Given the description of an element on the screen output the (x, y) to click on. 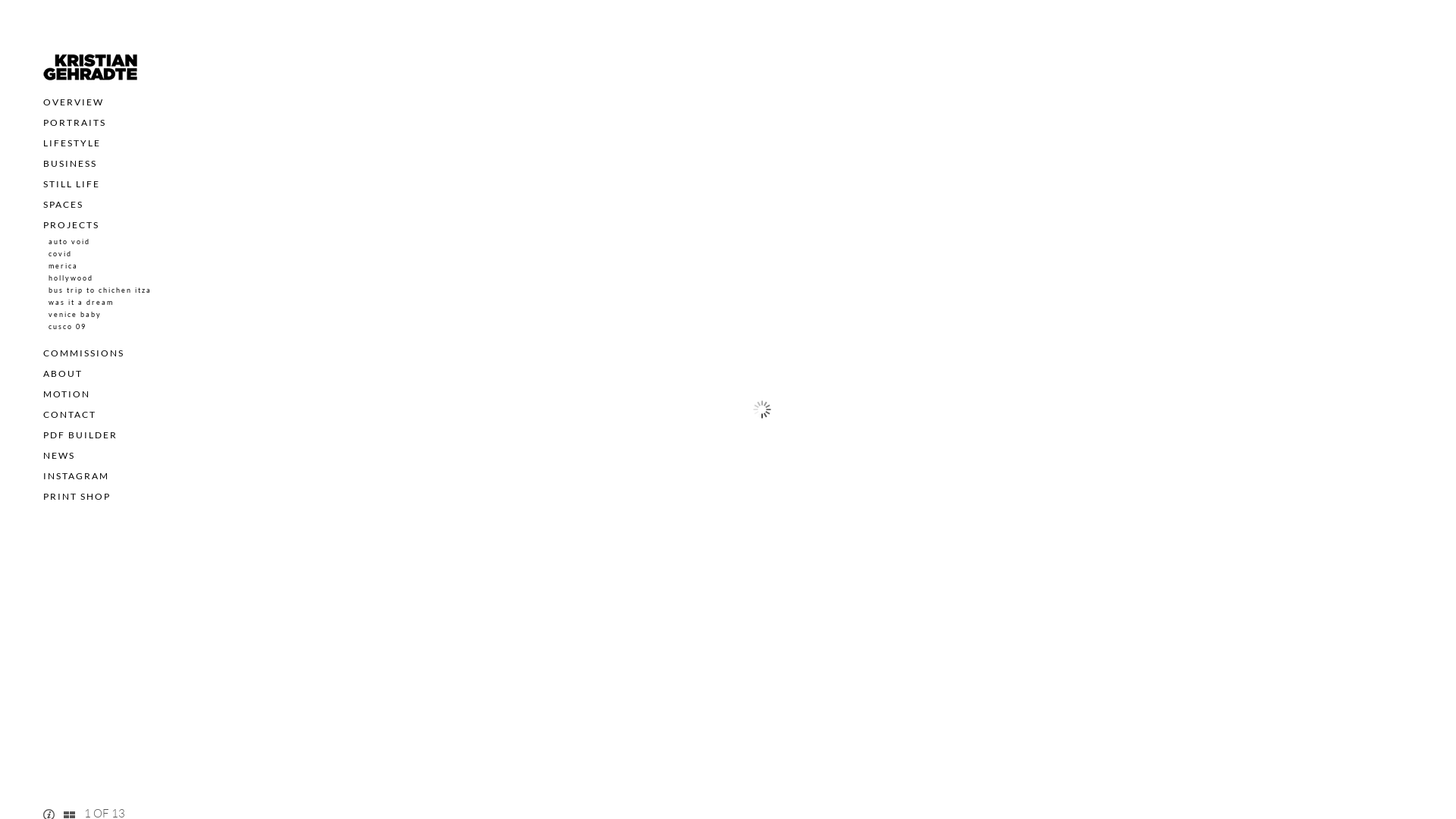
PROJECTS Element type: text (71, 224)
NEWS Element type: text (59, 455)
covid Element type: text (60, 253)
OVERVIEW Element type: text (73, 101)
cusco 09 Element type: text (67, 326)
PDF BUILDER Element type: text (80, 434)
MOTION Element type: text (66, 393)
LIFESTYLE Element type: text (71, 142)
ABOUT Element type: text (62, 373)
PRINT SHOP Element type: text (76, 496)
auto void Element type: text (69, 241)
COMMISSIONS Element type: text (83, 352)
SPACES Element type: text (63, 204)
merica Element type: text (63, 265)
bus trip to chichen itza Element type: text (99, 289)
venice baby Element type: text (74, 314)
hollywood Element type: text (70, 277)
STILL LIFE Element type: text (71, 183)
INSTAGRAM Element type: text (76, 475)
BUSINESS Element type: text (70, 163)
was it a dream Element type: text (80, 302)
CONTACT Element type: text (69, 414)
PORTRAITS Element type: text (74, 122)
